Given the description of an element on the screen output the (x, y) to click on. 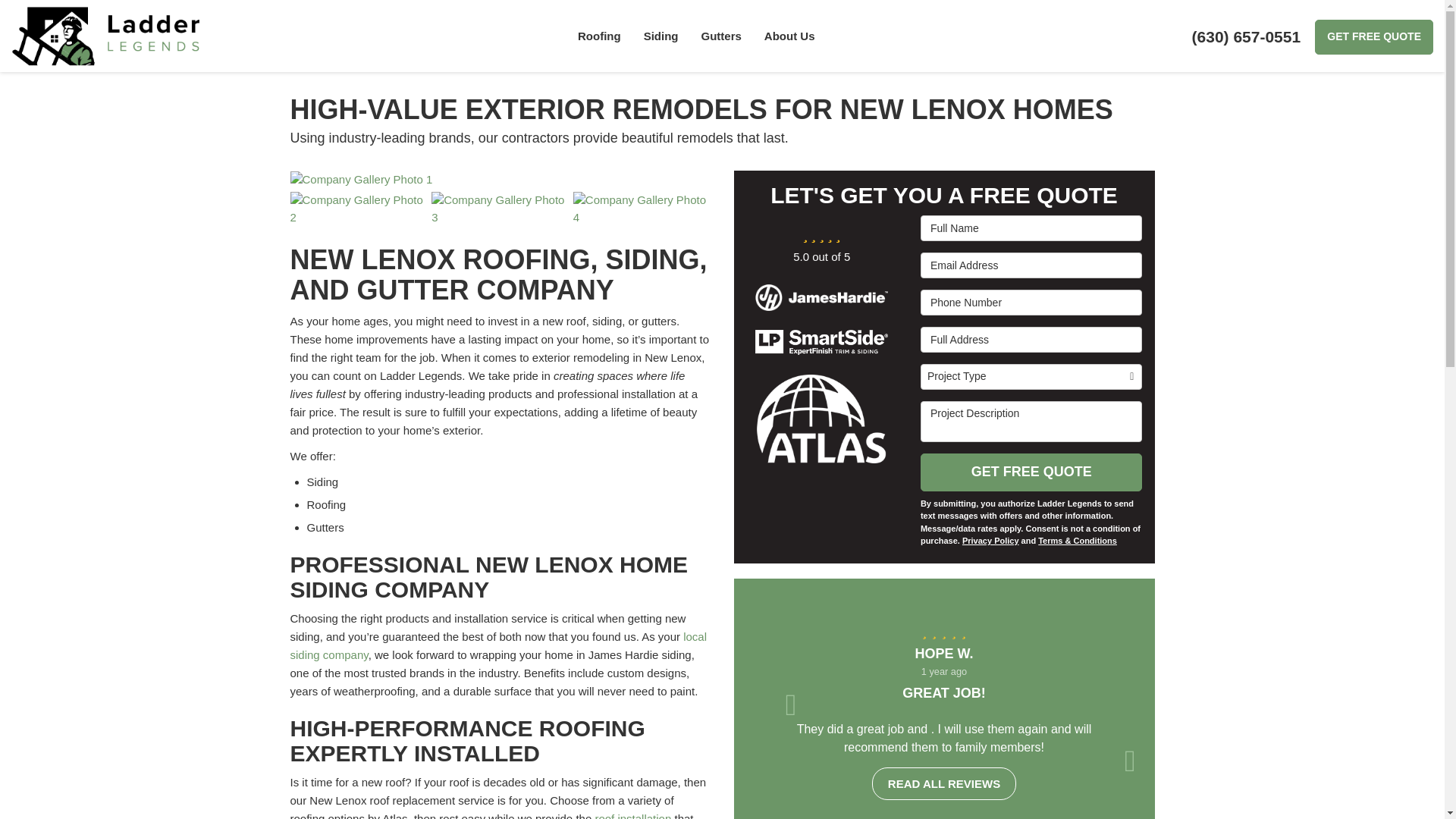
GET FREE QUOTE (1373, 36)
GET FREE QUOTE (1373, 36)
Roofing (598, 36)
About Us (789, 36)
5 Stars (943, 629)
